Given the description of an element on the screen output the (x, y) to click on. 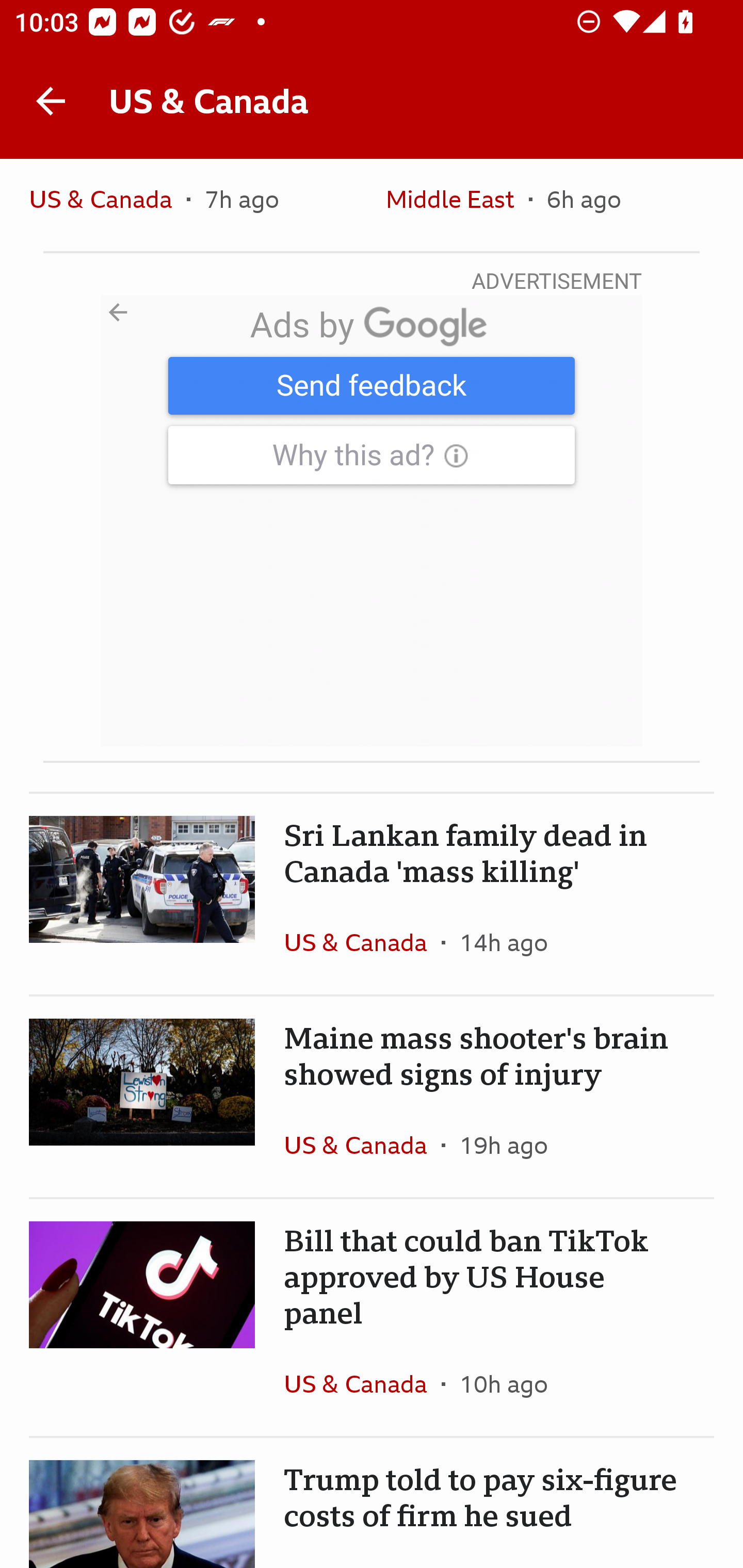
Back (50, 101)
US & Canada In the section US & Canada (107, 204)
Middle East In the section Middle East (457, 204)
Advertisement (371, 520)
US & Canada In the section US & Canada (362, 942)
US & Canada In the section US & Canada (362, 1144)
US & Canada In the section US & Canada (362, 1383)
